Given the description of an element on the screen output the (x, y) to click on. 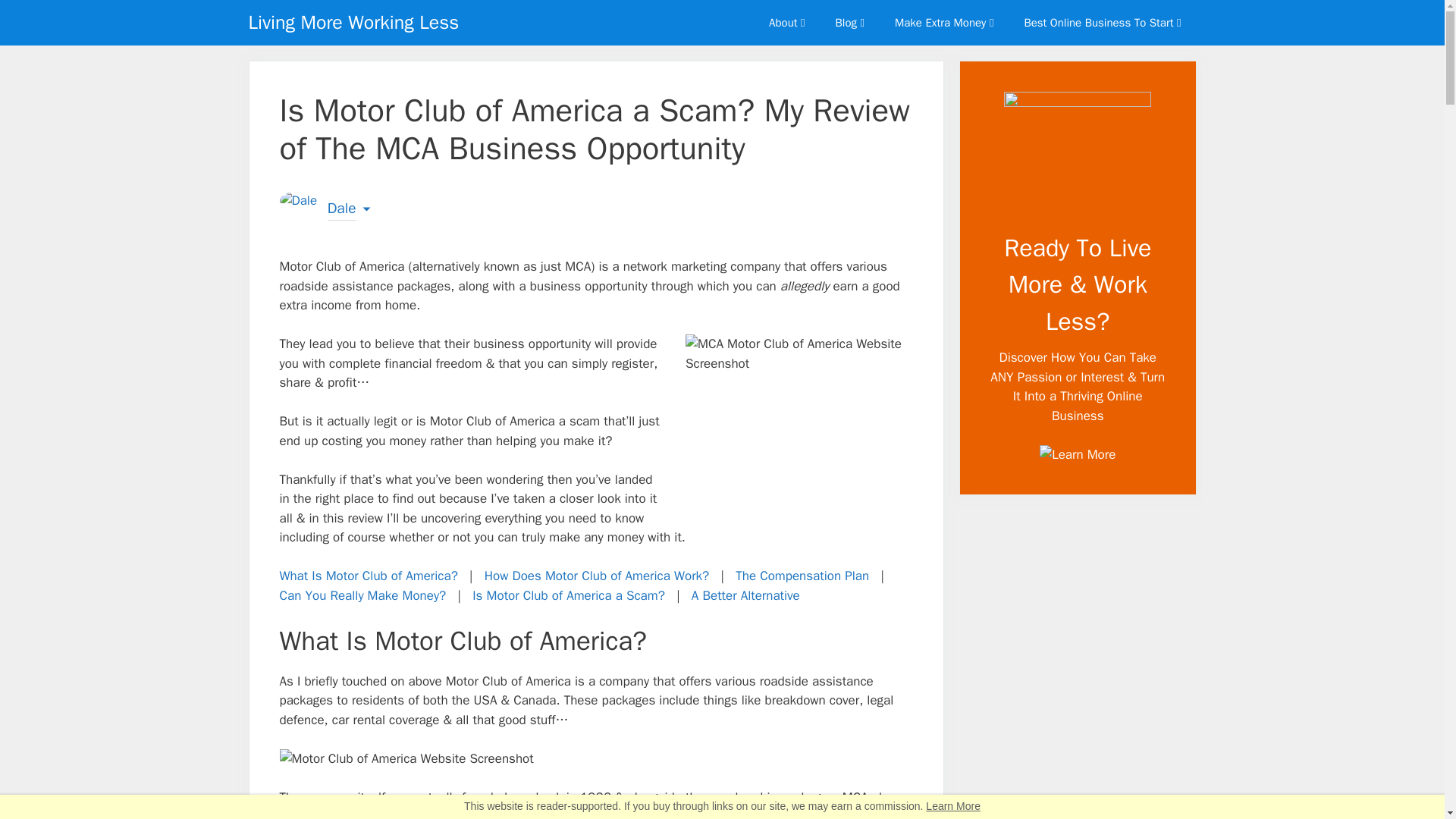
A Better Alternative (745, 595)
How Does Motor Club of America Work? (596, 575)
Living More Working Less (354, 22)
What Is Motor Club of America? (368, 575)
Can You Really Make Money? (362, 595)
The Compensation Plan (802, 575)
Is Motor Club of America a Scam? (568, 595)
